Given the description of an element on the screen output the (x, y) to click on. 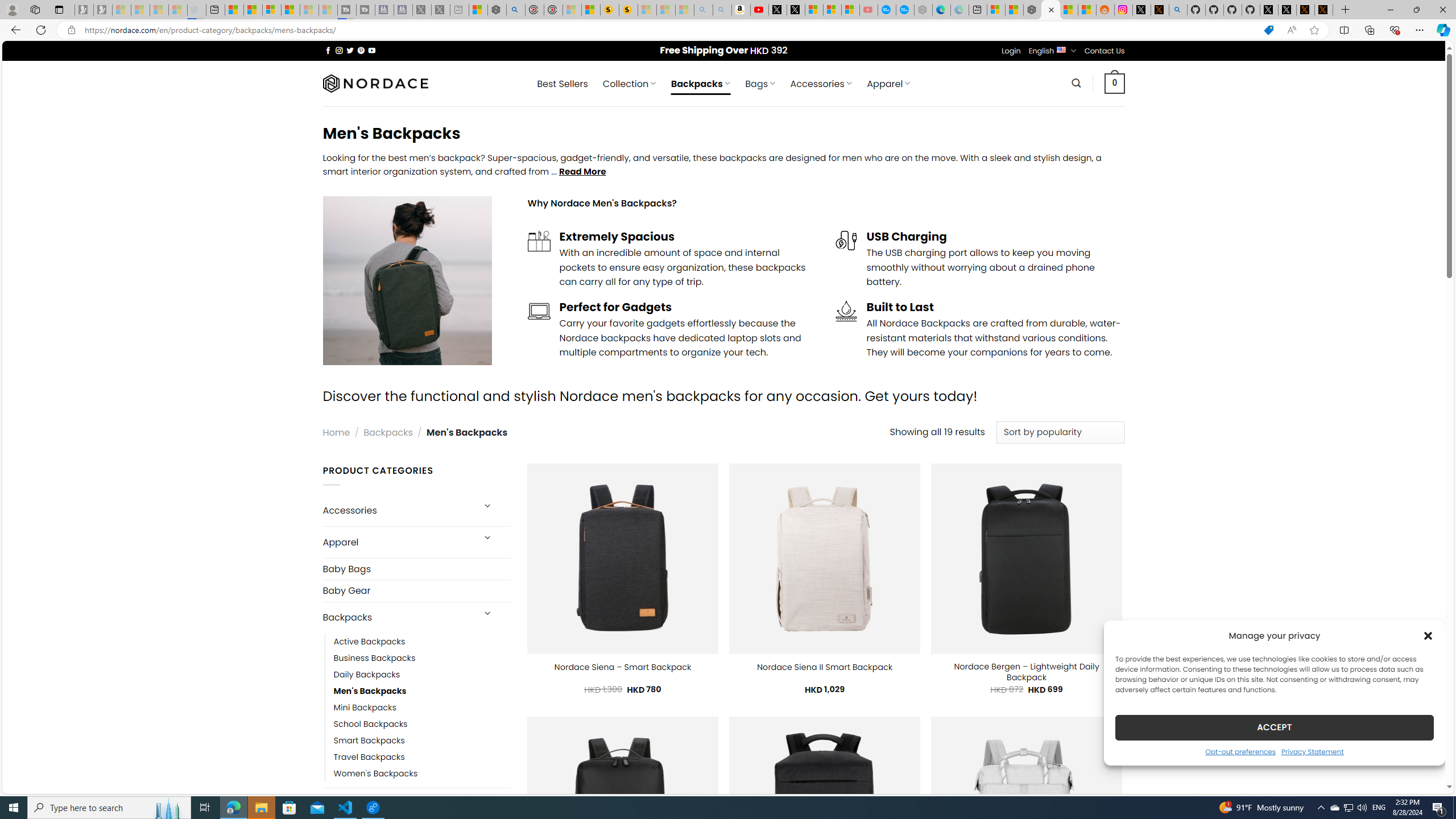
Daily Backpacks (422, 674)
New tab - Sleeping (459, 9)
Follow on Instagram (338, 49)
Login (1010, 50)
View site information (70, 29)
Login (1010, 50)
Baby Bags (416, 568)
Shanghai, China Weather trends | Microsoft Weather (1086, 9)
amazon - Search - Sleeping (702, 9)
X Privacy Policy (1324, 9)
